Given the description of an element on the screen output the (x, y) to click on. 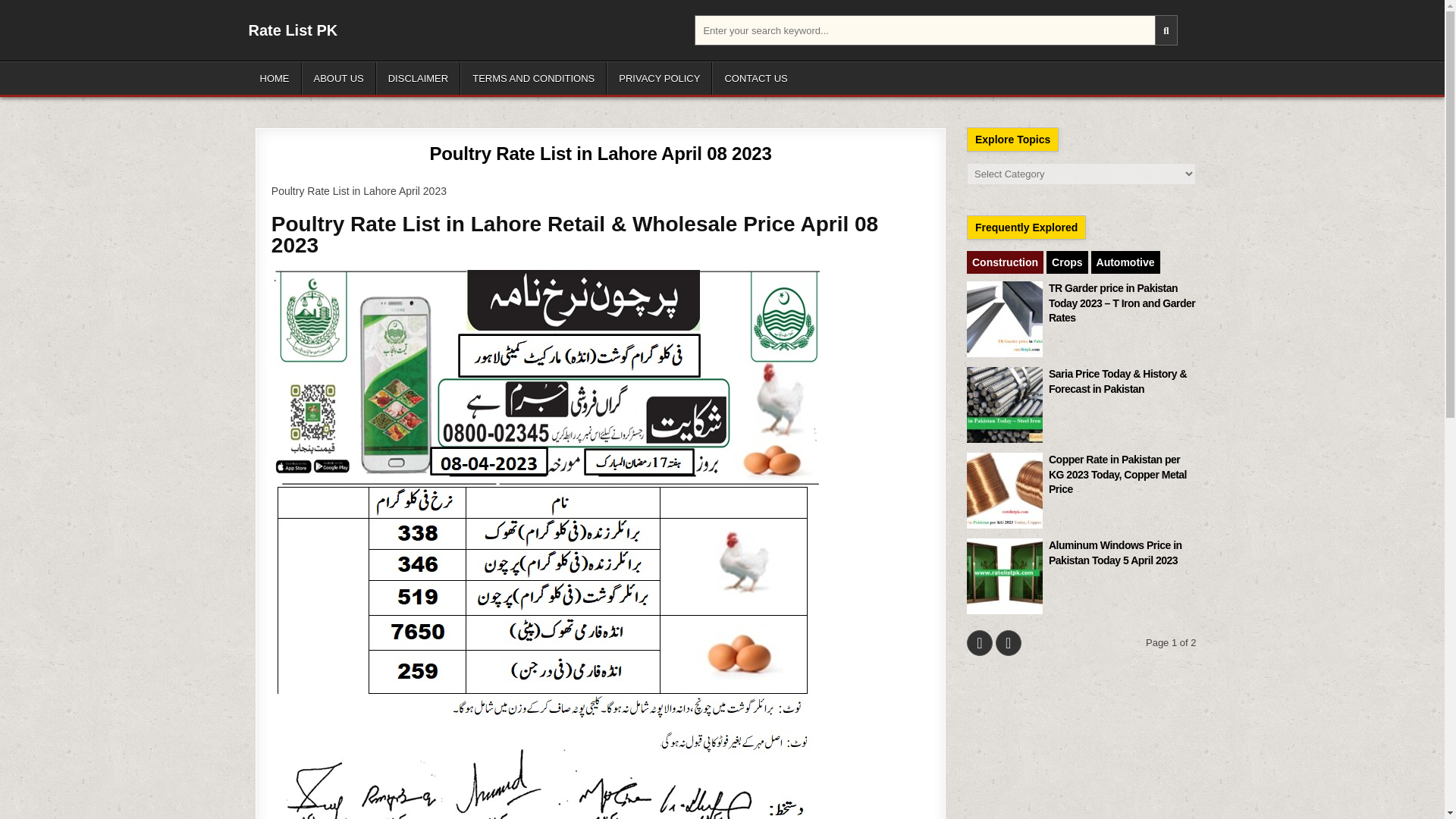
TERMS AND CONDITIONS (533, 78)
CONTACT US (754, 78)
ABOUT US (338, 78)
Rate List PK (292, 30)
DISCLAIMER (417, 78)
PRIVACY POLICY (659, 78)
HOME (274, 78)
